Given the description of an element on the screen output the (x, y) to click on. 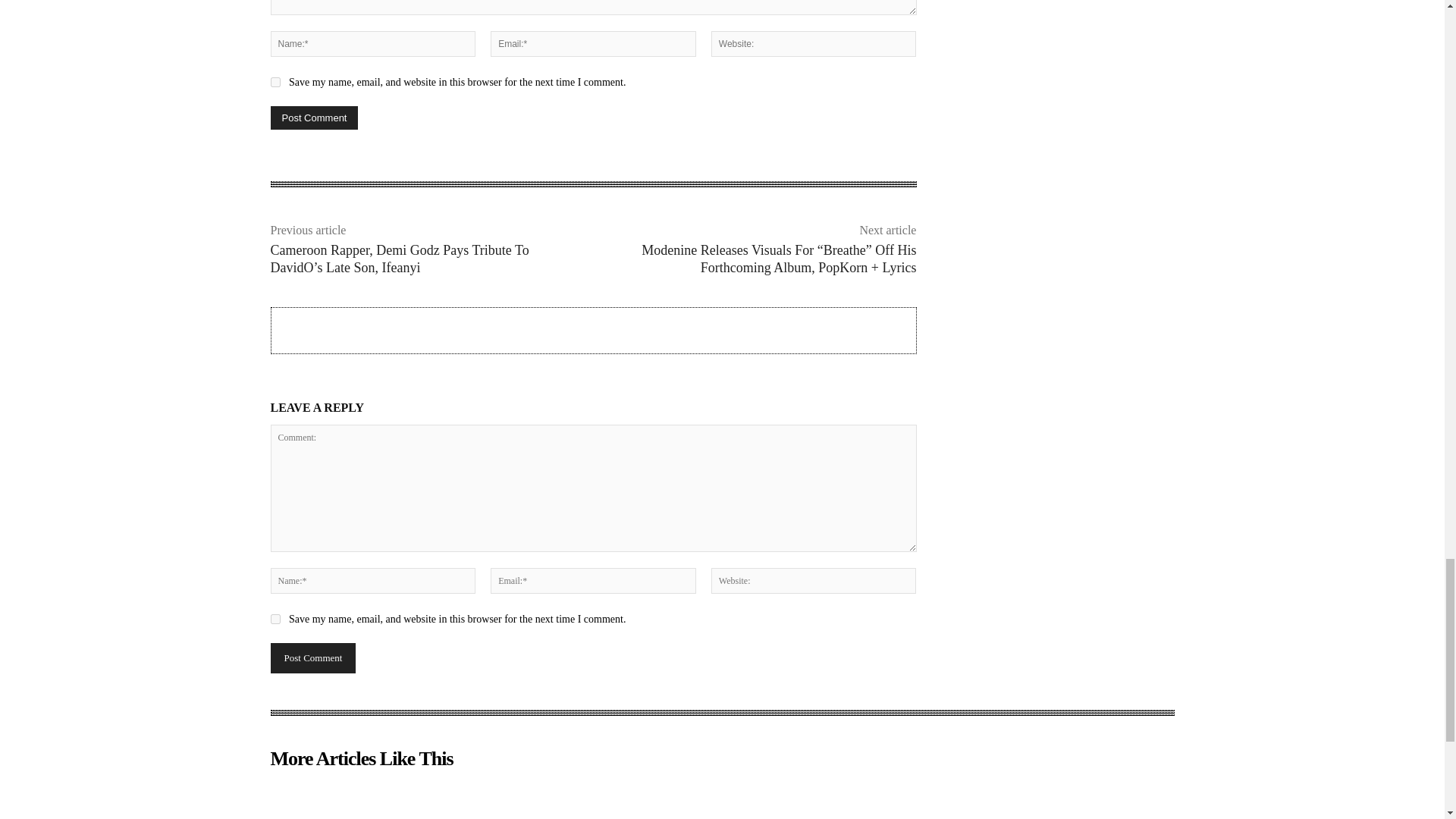
yes (274, 619)
Post Comment (312, 657)
Post Comment (313, 117)
yes (274, 81)
